Given the description of an element on the screen output the (x, y) to click on. 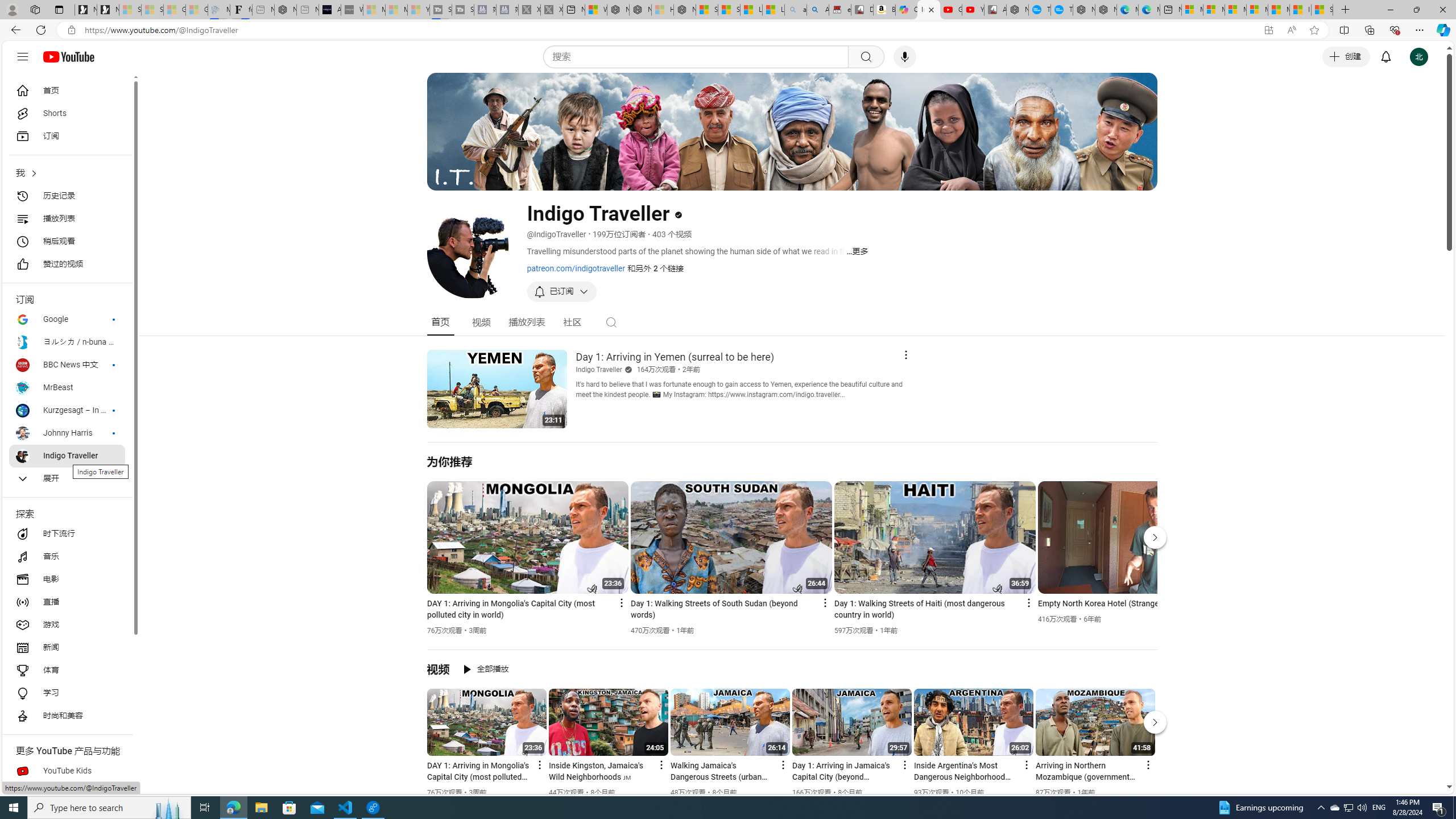
What's the best AI voice generator? - voice.ai - Sleeping (352, 9)
